Given the description of an element on the screen output the (x, y) to click on. 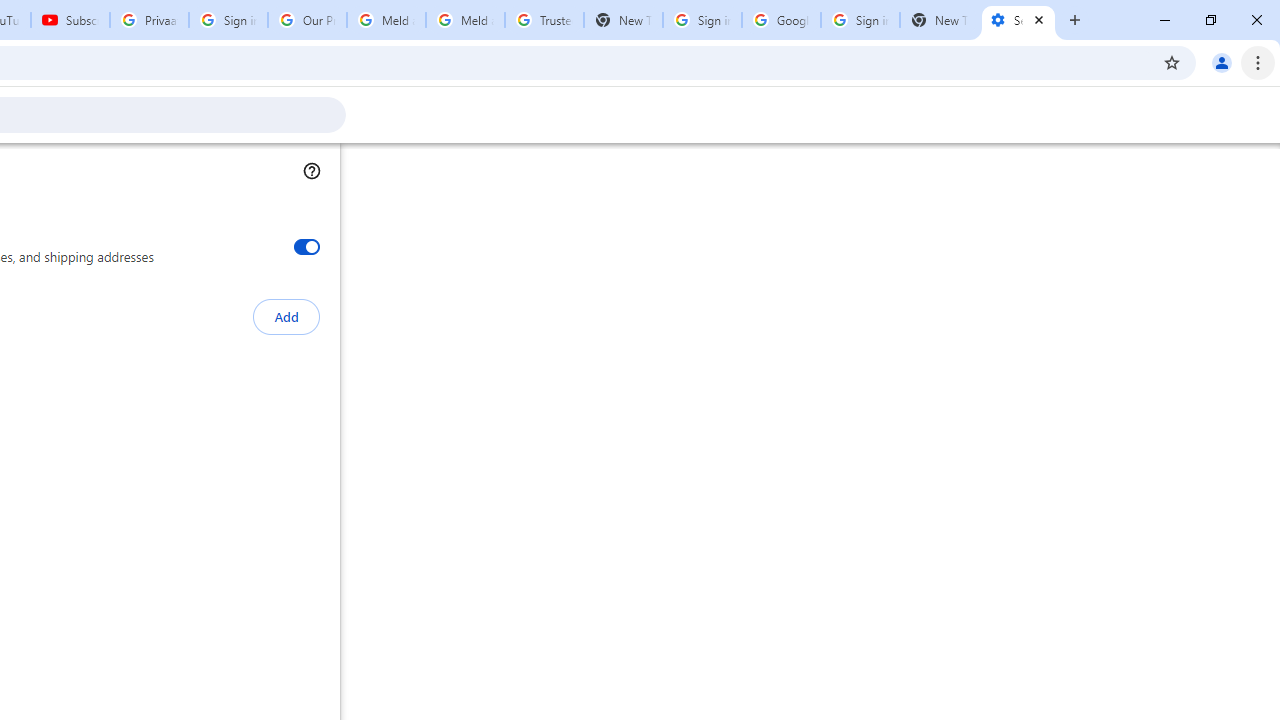
Sign in - Google Accounts (228, 20)
Settings - Addresses and more (1018, 20)
Subscriptions - YouTube (70, 20)
Sign in - Google Accounts (859, 20)
New Tab (939, 20)
